Given the description of an element on the screen output the (x, y) to click on. 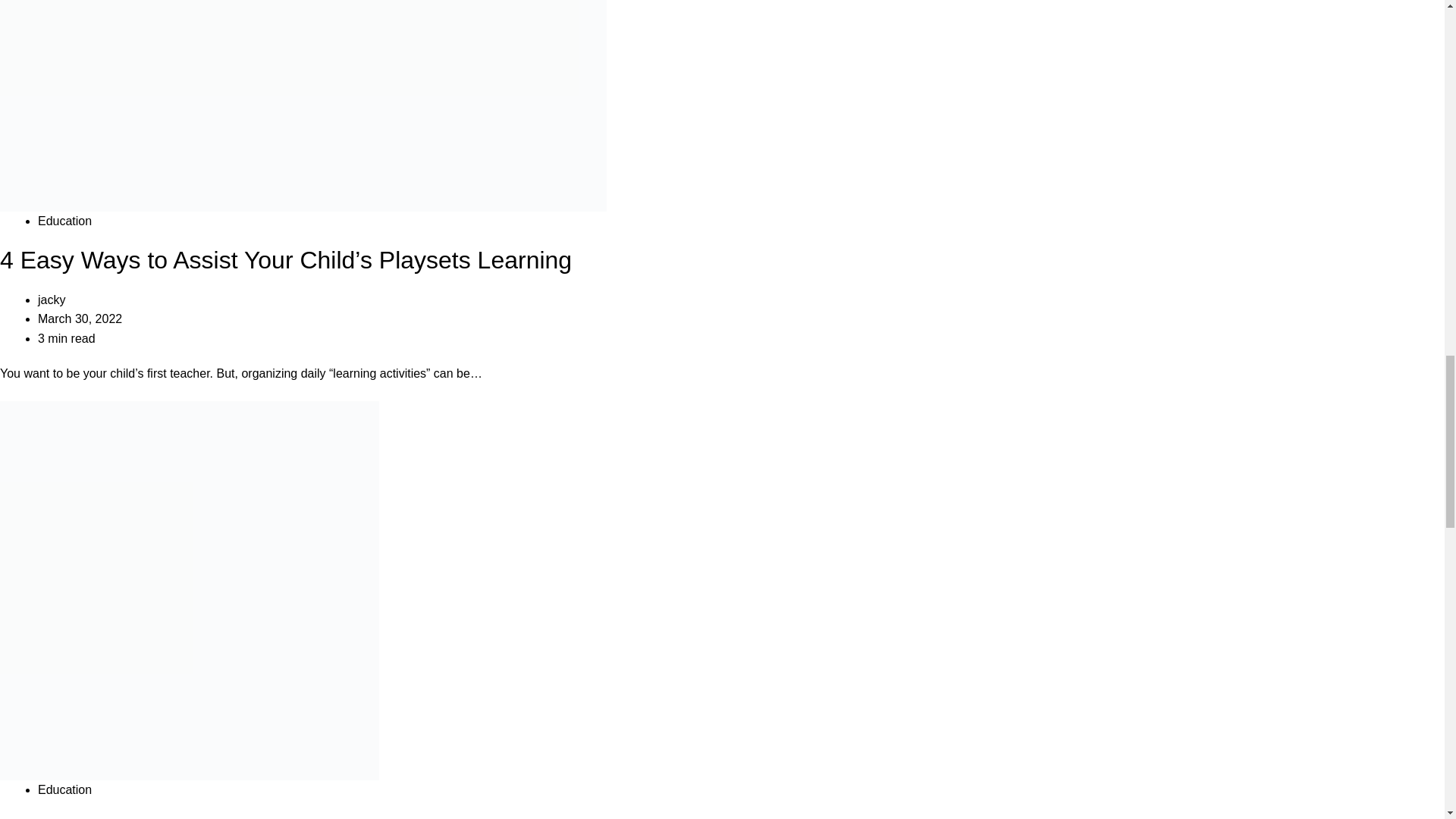
Education (64, 789)
jacky (51, 299)
Education (64, 220)
